Given the description of an element on the screen output the (x, y) to click on. 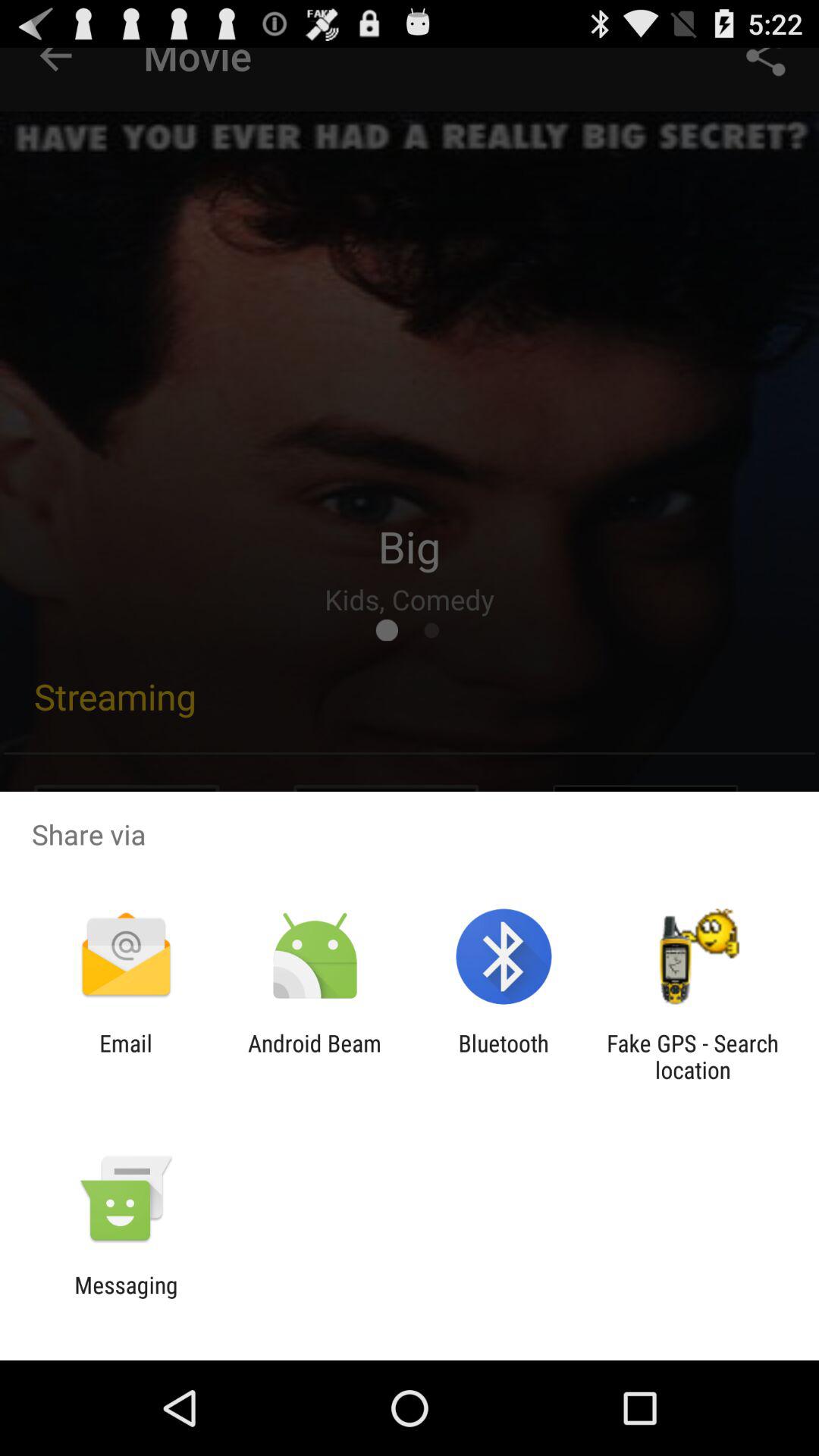
open item next to android beam app (125, 1056)
